Given the description of an element on the screen output the (x, y) to click on. 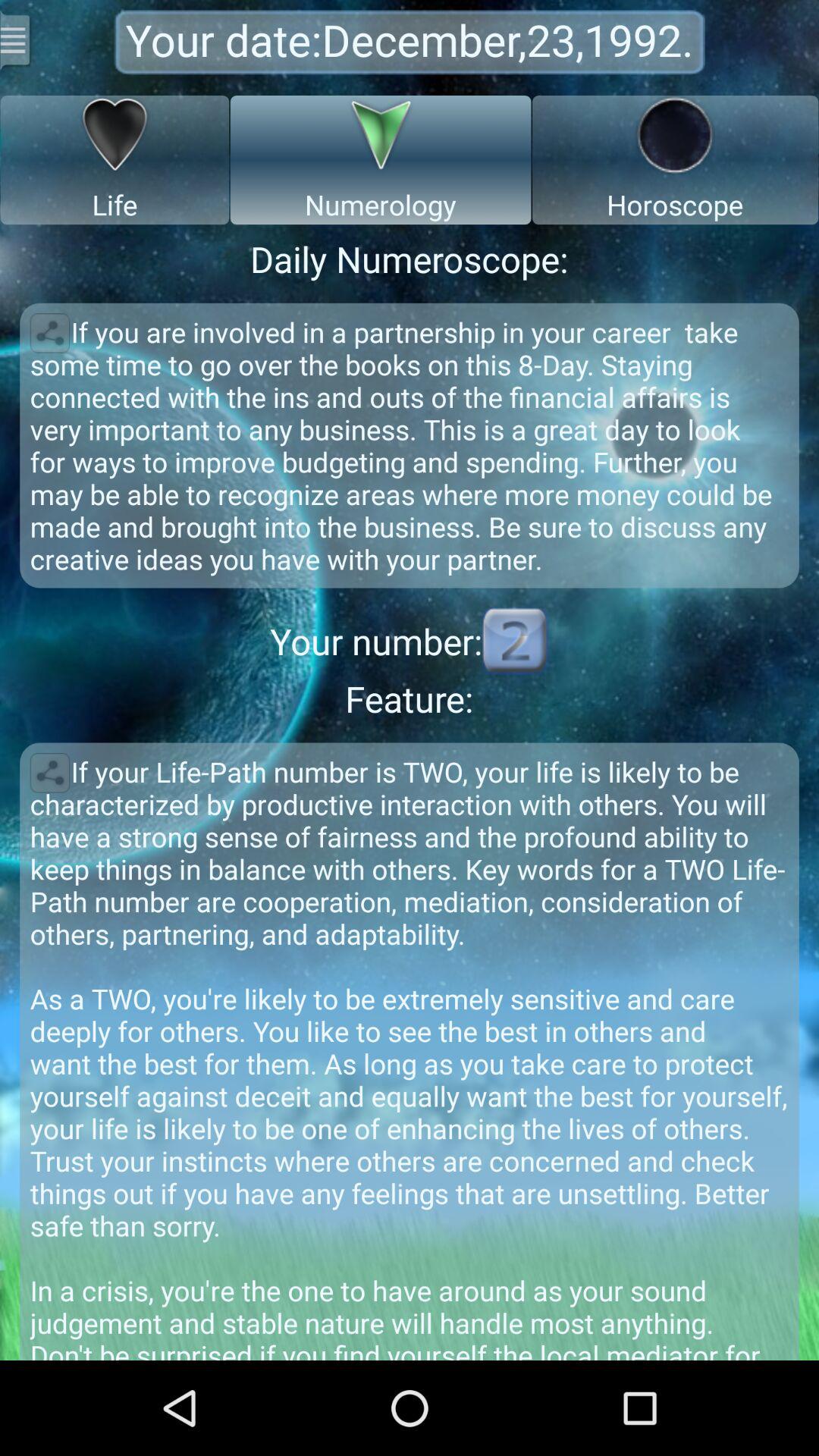
go to home page (17, 39)
